Given the description of an element on the screen output the (x, y) to click on. 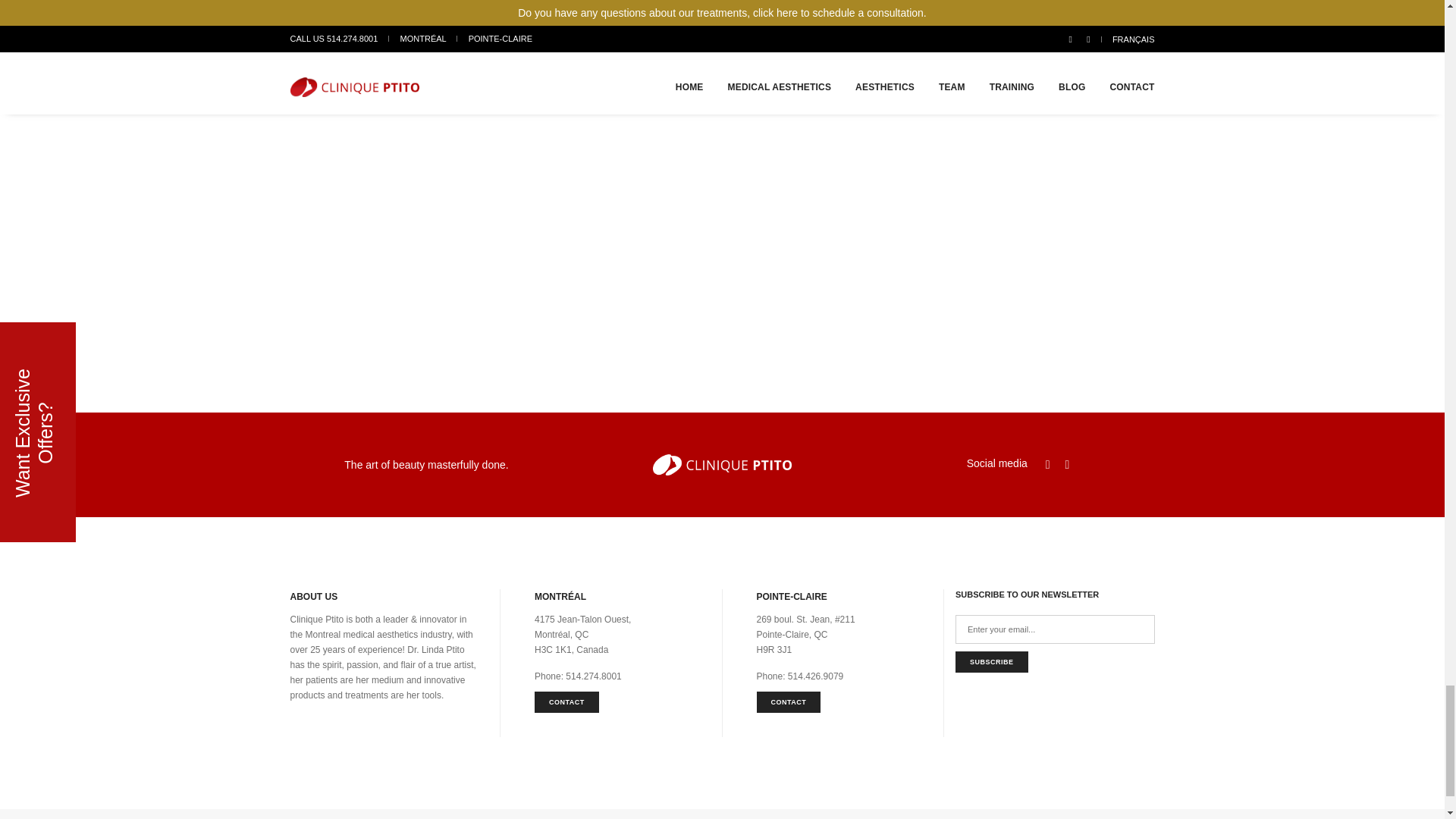
Subscribe (991, 661)
